Given the description of an element on the screen output the (x, y) to click on. 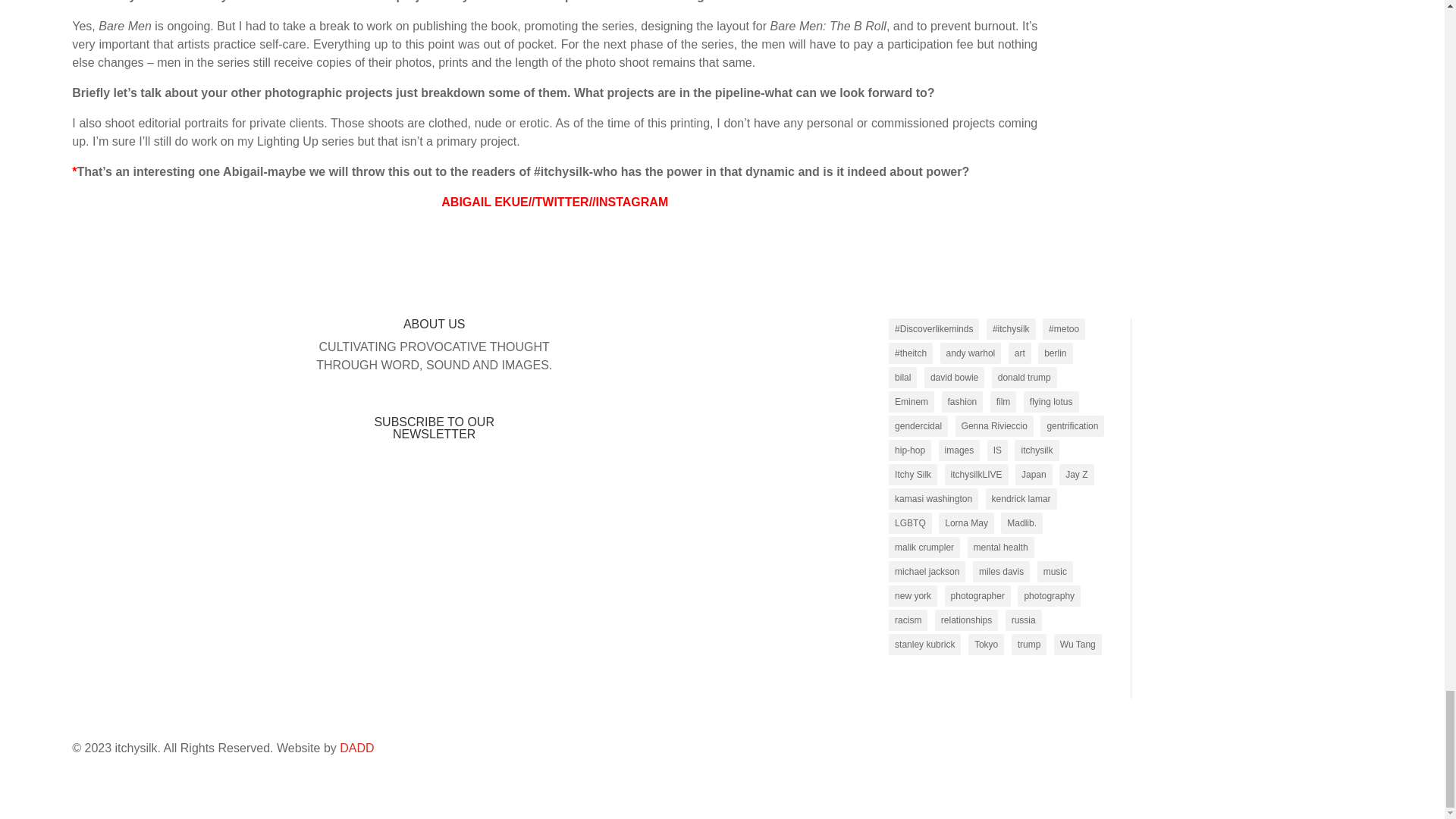
ABIGAIL EKUE (484, 201)
Website Design and Digital Development in High Wycombe (356, 748)
TWITTER (562, 201)
